Given the description of an element on the screen output the (x, y) to click on. 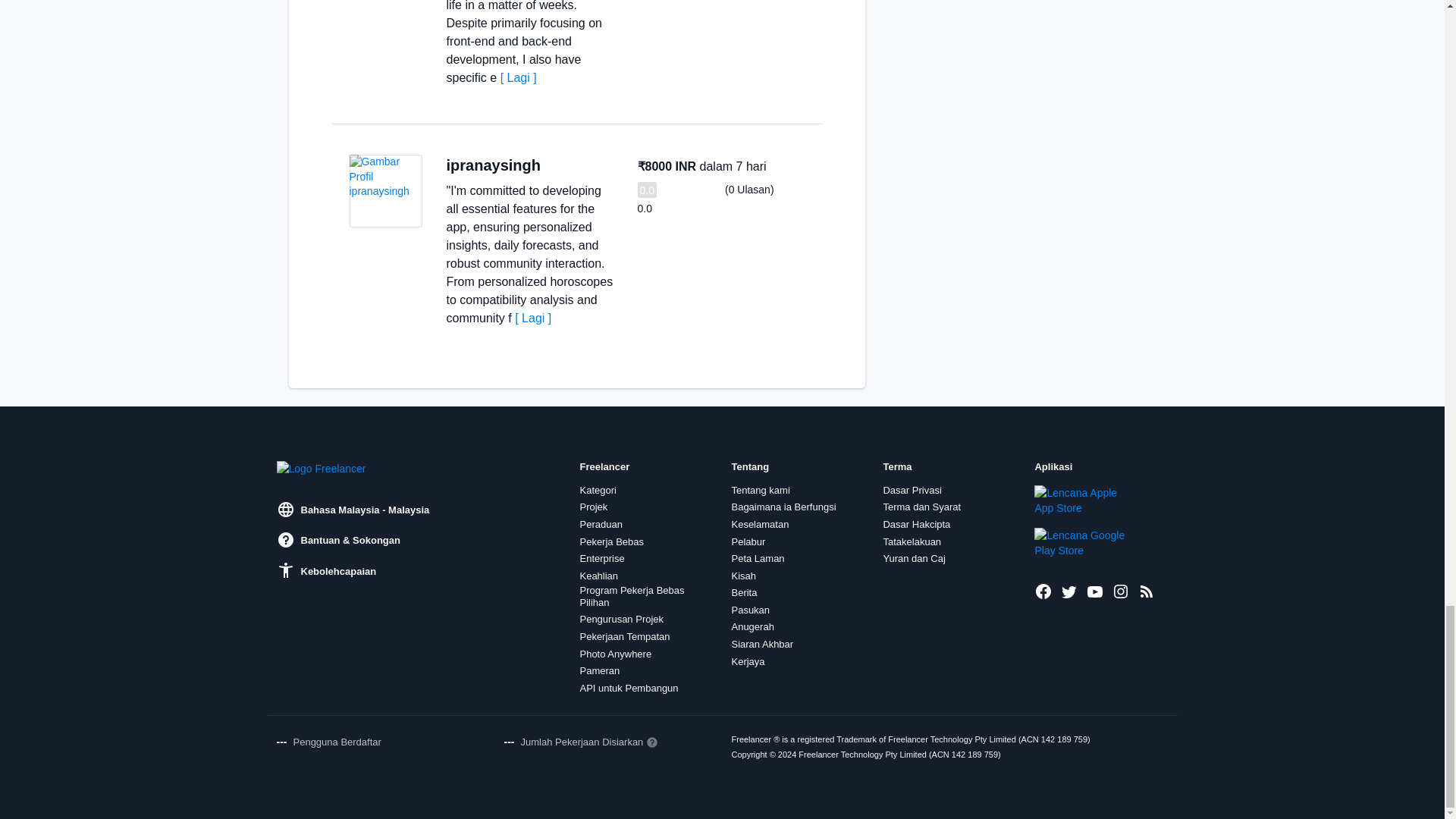
ipranaysingh (492, 165)
Muat turun di App Store (1085, 500)
Lihat Profil ipranaysingh (385, 190)
Lagi (533, 318)
India (556, 165)
Dapatkannya di Google Play (1085, 542)
Lagi (518, 77)
